Given the description of an element on the screen output the (x, y) to click on. 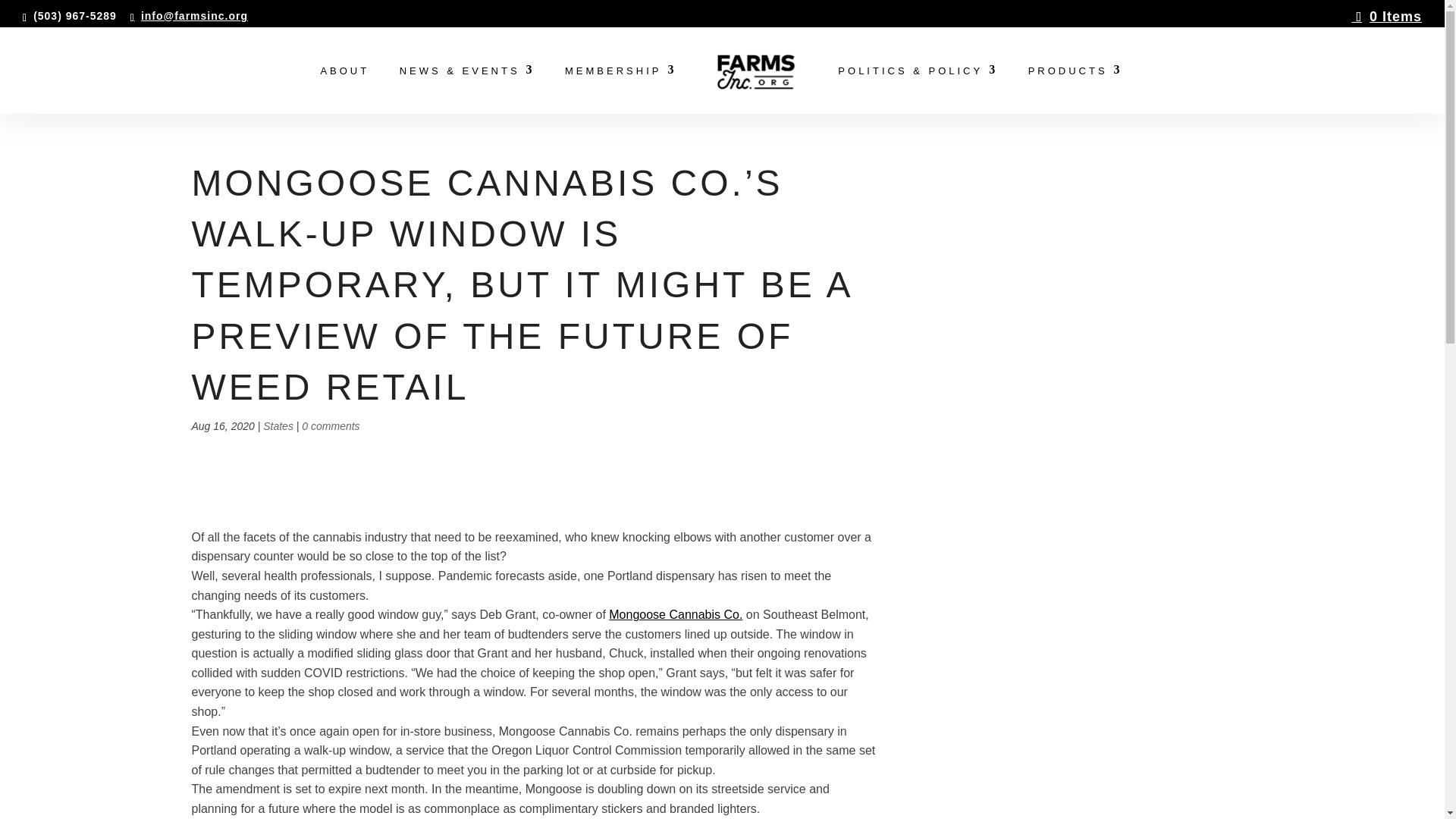
MEMBERSHIP (620, 89)
Mongoose Cannabis Co. (675, 614)
PRODUCTS (1074, 89)
0 Items (1386, 16)
ABOUT (344, 89)
States (278, 426)
0 comments (330, 426)
